Given the description of an element on the screen output the (x, y) to click on. 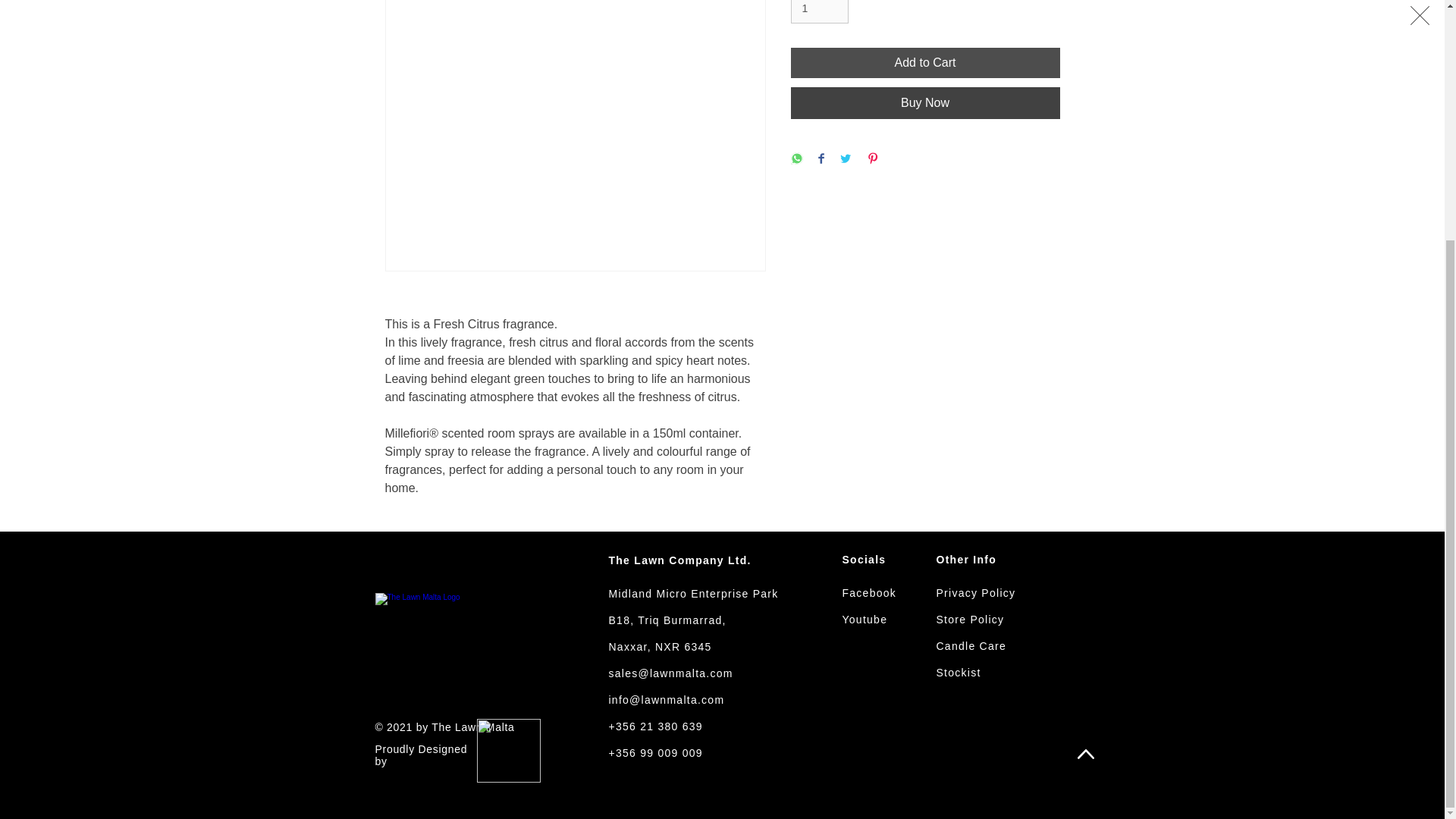
Youtube (863, 619)
Add to Cart (924, 62)
Store Policy (970, 619)
Candle Care (971, 645)
Facebook (868, 592)
Privacy Policy (975, 592)
Stockist (957, 672)
1 (818, 11)
Buy Now (924, 102)
